Given the description of an element on the screen output the (x, y) to click on. 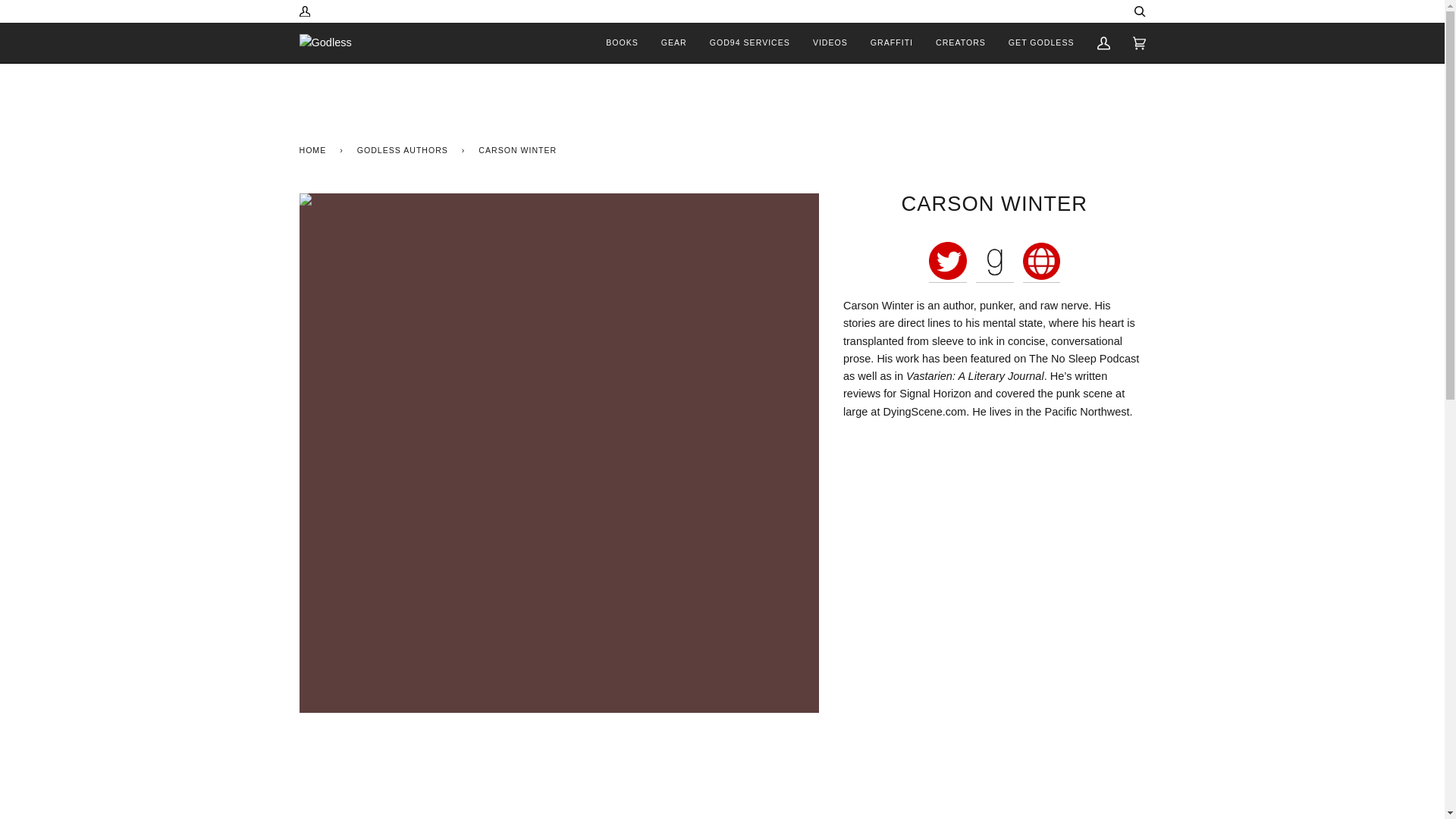
Check out the Official Carson Winter Website (1041, 275)
Back to the frontpage (314, 149)
Check Out Carson on Goodreads (994, 275)
GOD94 SERVICES (750, 42)
GEAR (673, 42)
Check Out Carson on Twitter (947, 275)
BOOKS (621, 42)
